Given the description of an element on the screen output the (x, y) to click on. 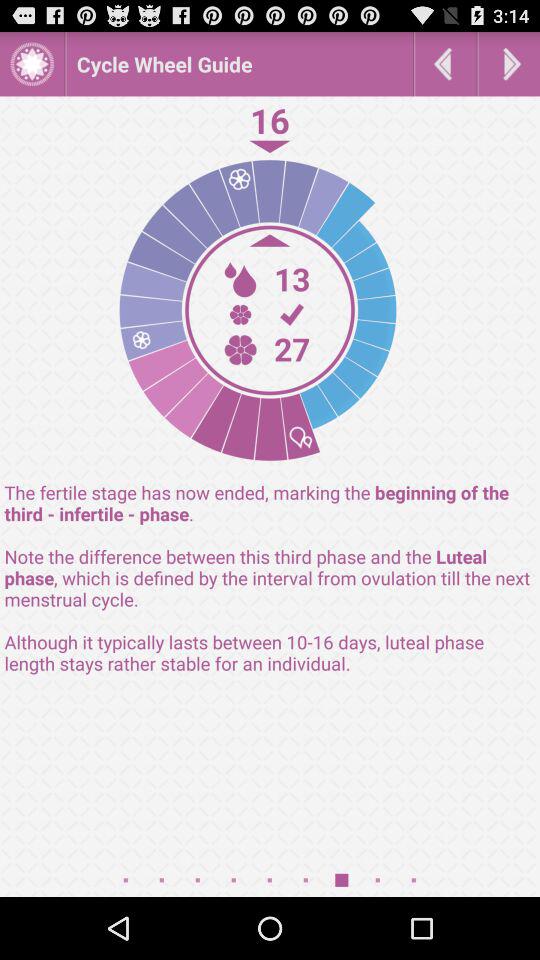
settings option (32, 63)
